Given the description of an element on the screen output the (x, y) to click on. 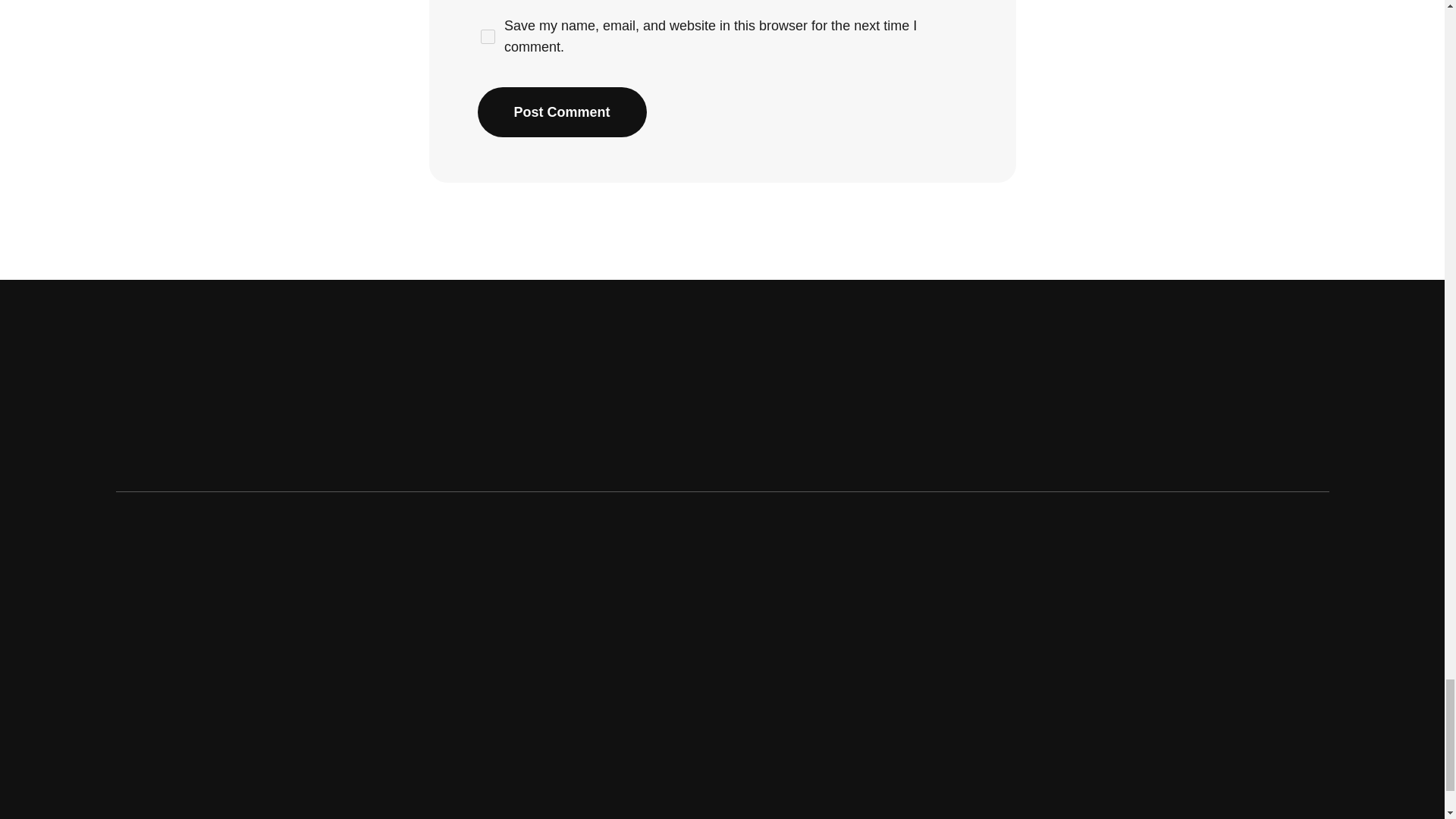
Post Comment (561, 111)
Post Comment (561, 111)
yes (487, 37)
